Given the description of an element on the screen output the (x, y) to click on. 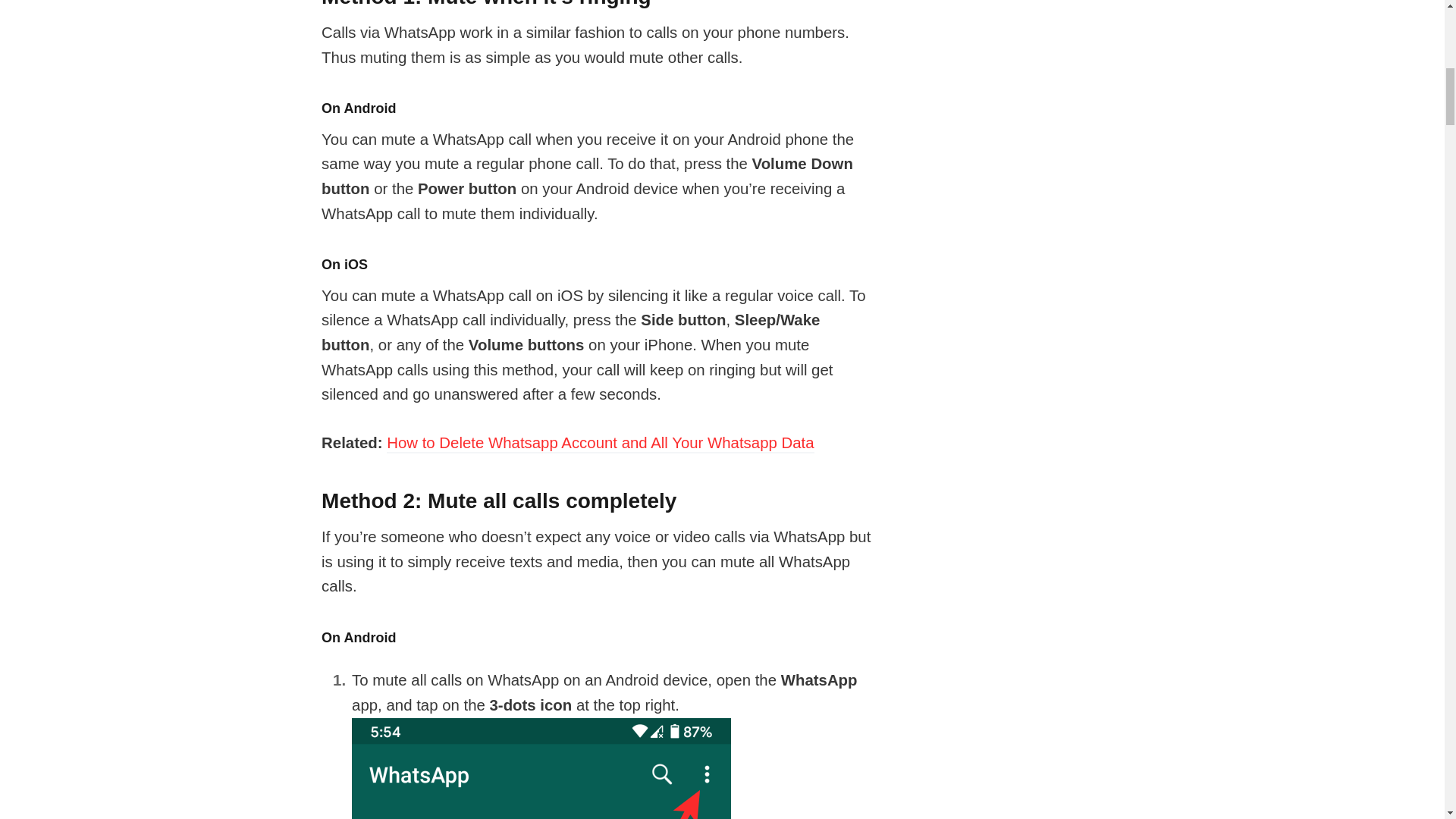
How to Delete Whatsapp Account and All Your Whatsapp Data (600, 443)
